Given the description of an element on the screen output the (x, y) to click on. 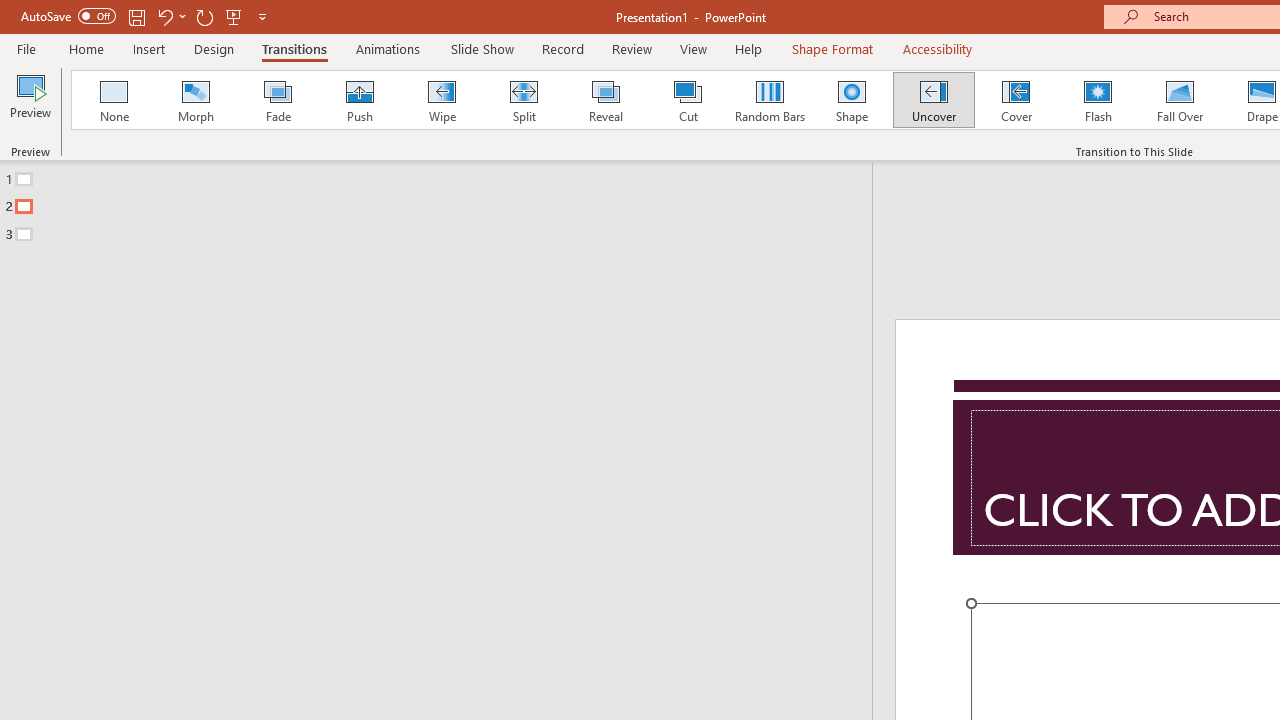
Reveal (605, 100)
Cover (1016, 100)
Split (523, 100)
Fade (277, 100)
Wipe (441, 100)
